Given the description of an element on the screen output the (x, y) to click on. 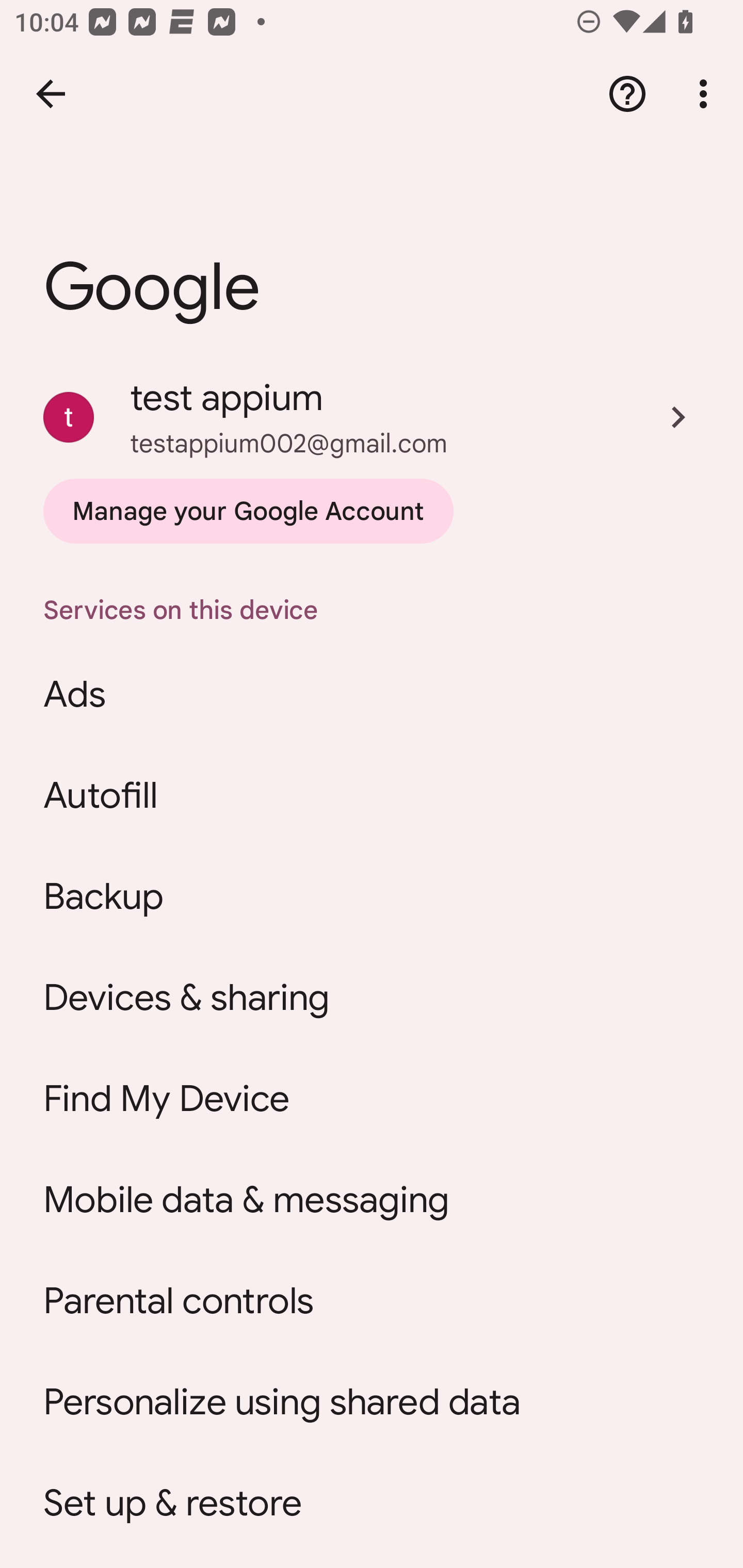
Navigate up (50, 93)
Help & feedback (626, 93)
More options (706, 93)
Manage your Google Account (248, 511)
Ads (371, 694)
Autofill (371, 795)
Backup (371, 896)
Devices & sharing (371, 997)
Find My Device (371, 1098)
Mobile data & messaging (371, 1200)
Parental controls (371, 1301)
Personalize using shared data (371, 1402)
Set up & restore (371, 1503)
